Given the description of an element on the screen output the (x, y) to click on. 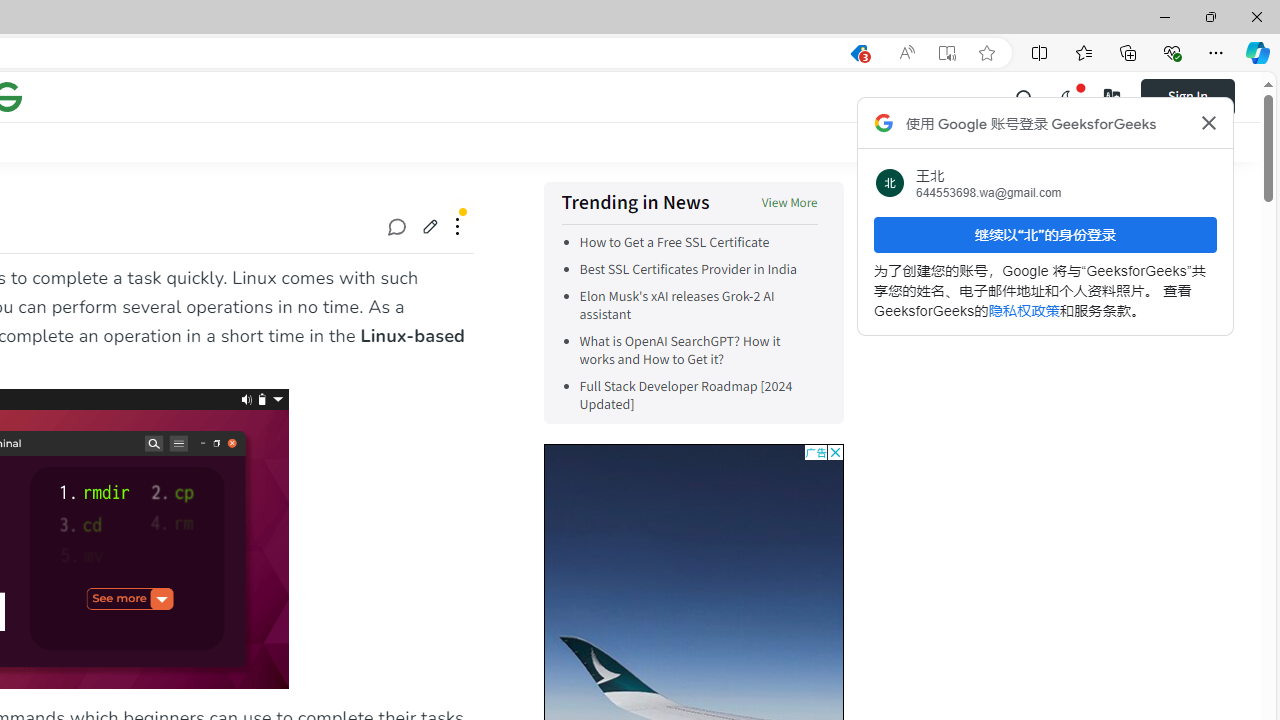
Elon Musk's xAI releases Grok-2 AI assistant (697, 306)
toggle theme (1067, 96)
Full Stack Developer Roadmap [2024 Updated] (685, 395)
Best SSL Certificates Provider in India (687, 269)
View More (789, 203)
AutomationID: cbb (834, 452)
search (1025, 96)
Full Stack Developer Roadmap [2024 Updated] (697, 395)
